Given the description of an element on the screen output the (x, y) to click on. 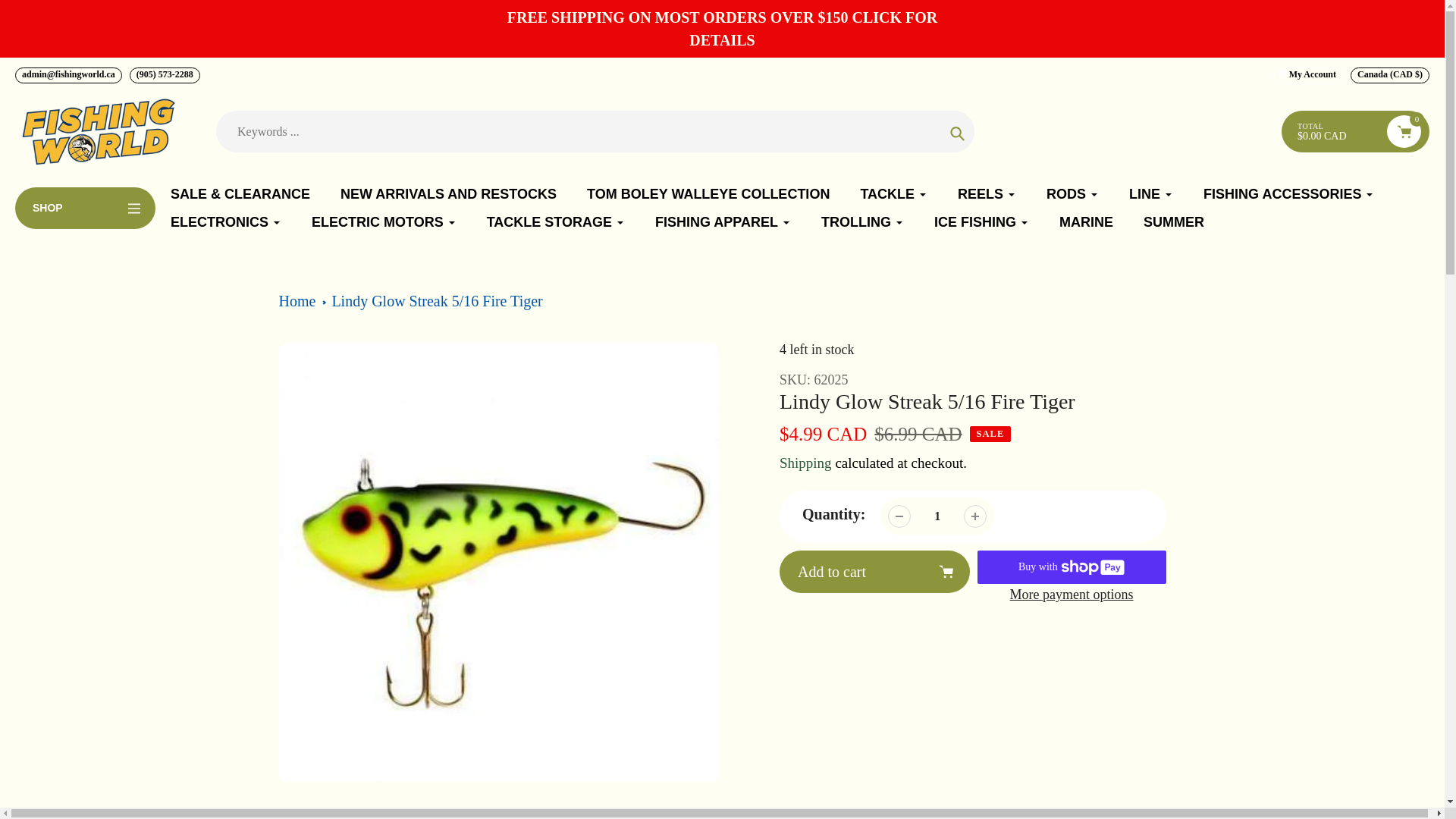
TACKLE (893, 194)
1 (937, 515)
0 (1404, 131)
NEW ARRIVALS AND RESTOCKS (448, 194)
TOM BOLEY WALLEYE COLLECTION (707, 194)
My Account (1306, 75)
SHOP (84, 208)
